Given the description of an element on the screen output the (x, y) to click on. 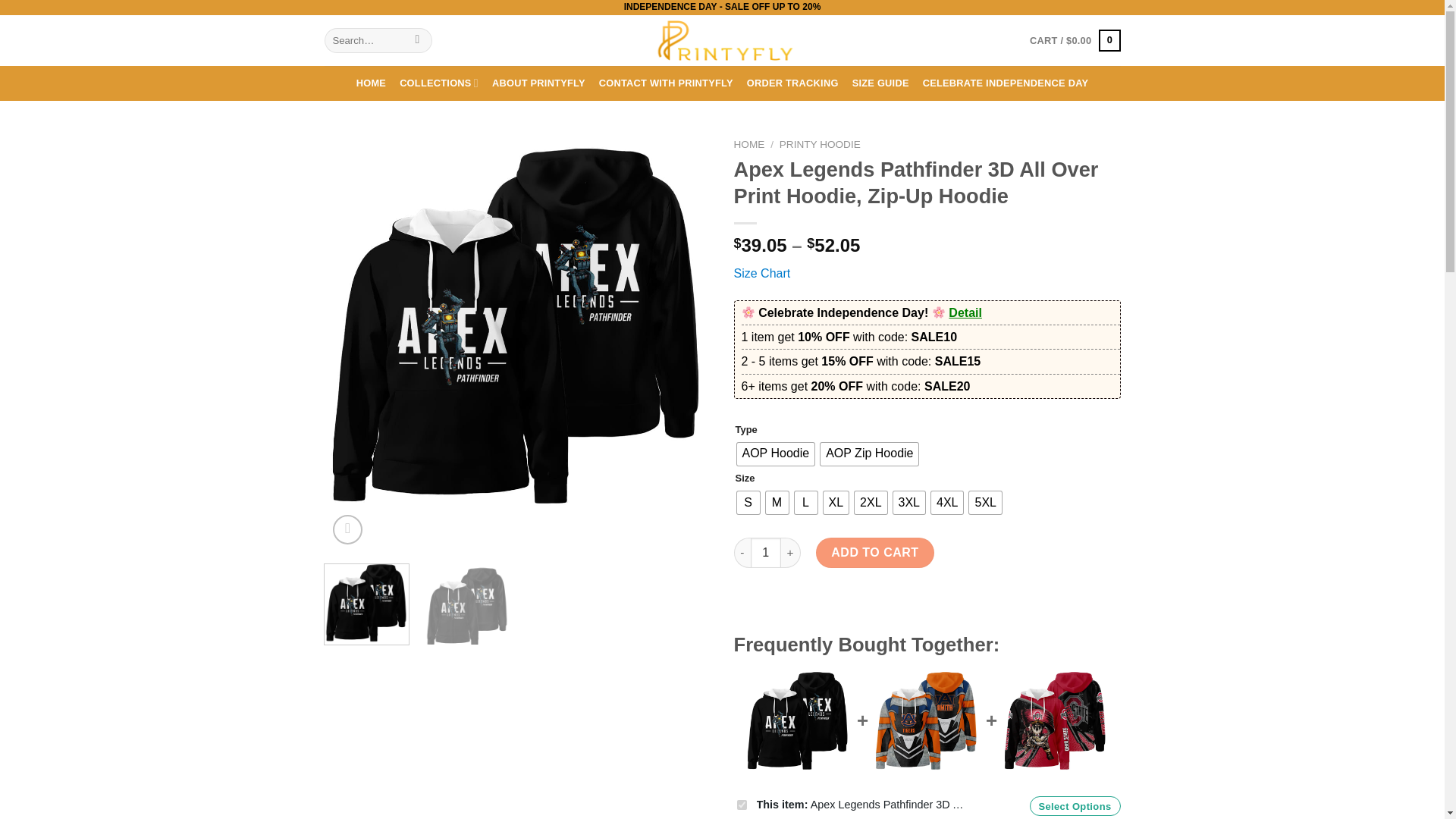
PRINTY HOODIE (819, 143)
CONTACT WITH PRINTYFLY (665, 83)
Zoom (347, 529)
S (748, 502)
2237024 (741, 804)
ABOUT PRINTYFLY (538, 83)
2XL (870, 502)
CELEBRATE INDEPENDENCE DAY (1006, 83)
Size Chart (761, 273)
3XL (908, 502)
